Given the description of an element on the screen output the (x, y) to click on. 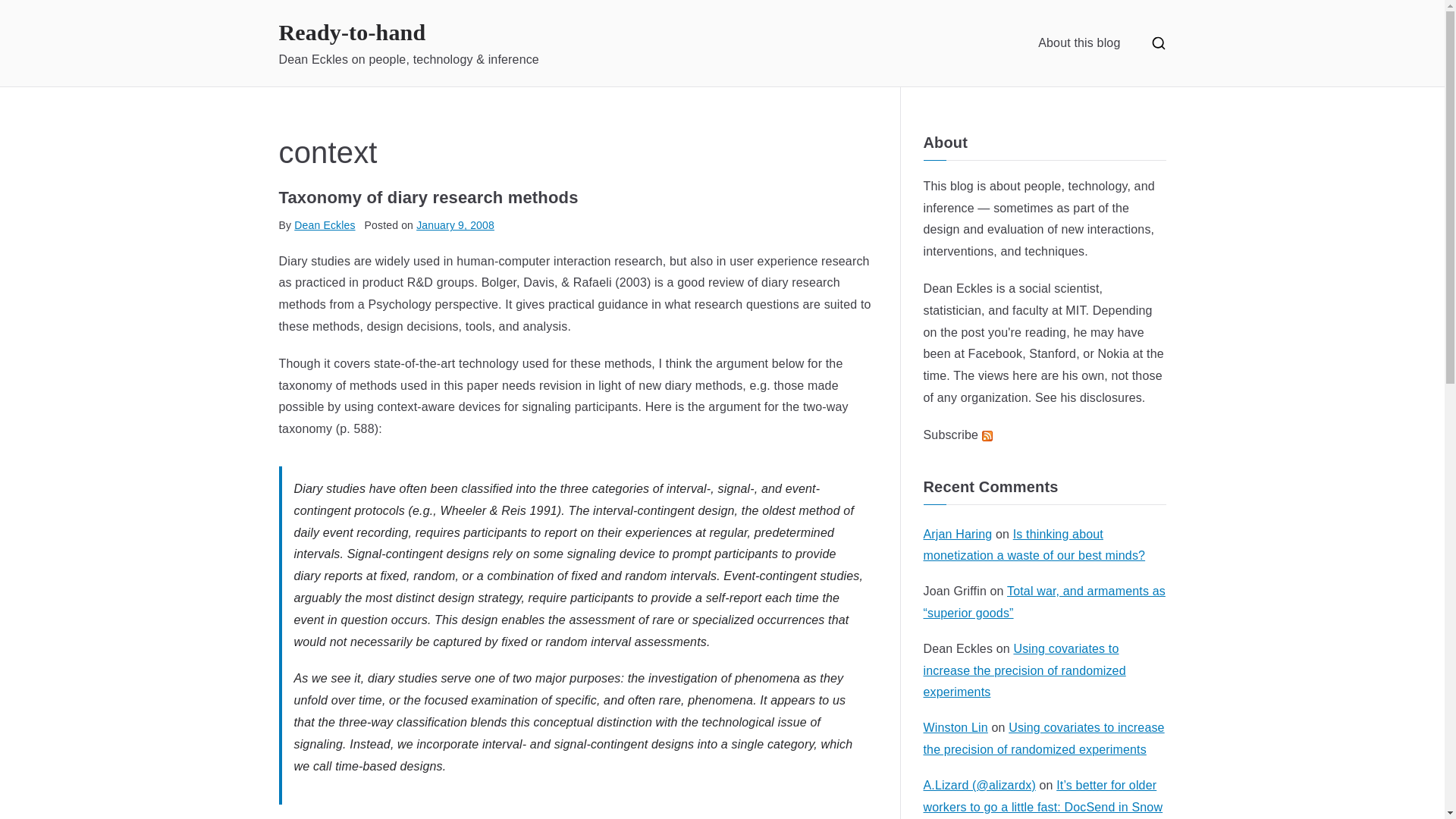
Is thinking about monetization a waste of our best minds? (1034, 544)
Ready-to-hand (352, 32)
Search (27, 13)
Taxonomy of diary research methods (428, 197)
Subscribe (957, 434)
Dean Eckles (324, 224)
About this blog (1078, 42)
Arjan Haring (957, 533)
January 9, 2008 (455, 224)
Winston Lin (955, 727)
his disclosures (1101, 397)
Dean Eckles (957, 287)
